Given the description of an element on the screen output the (x, y) to click on. 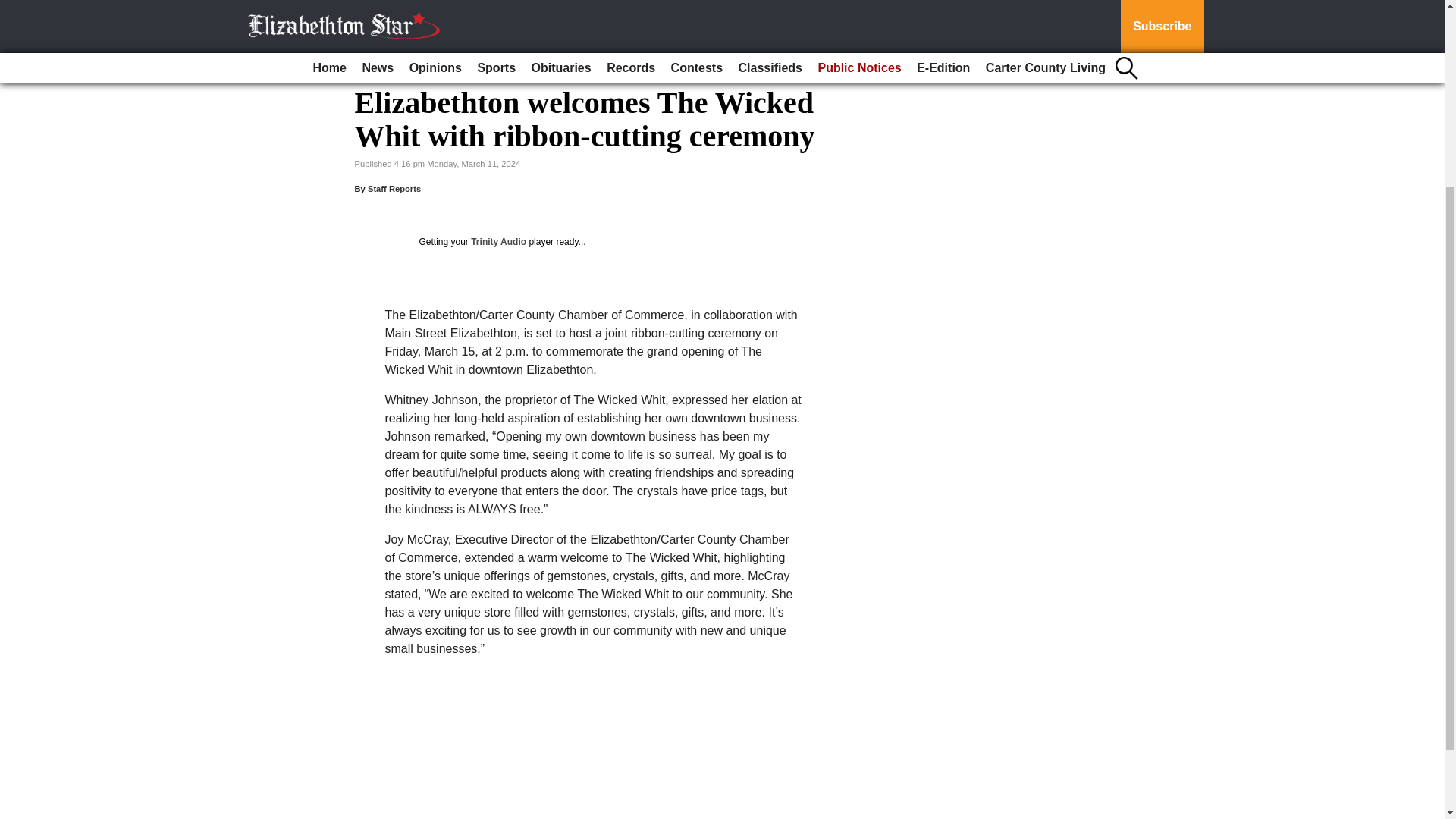
Trinity Audio (497, 241)
Staff Reports (394, 188)
